Given the description of an element on the screen output the (x, y) to click on. 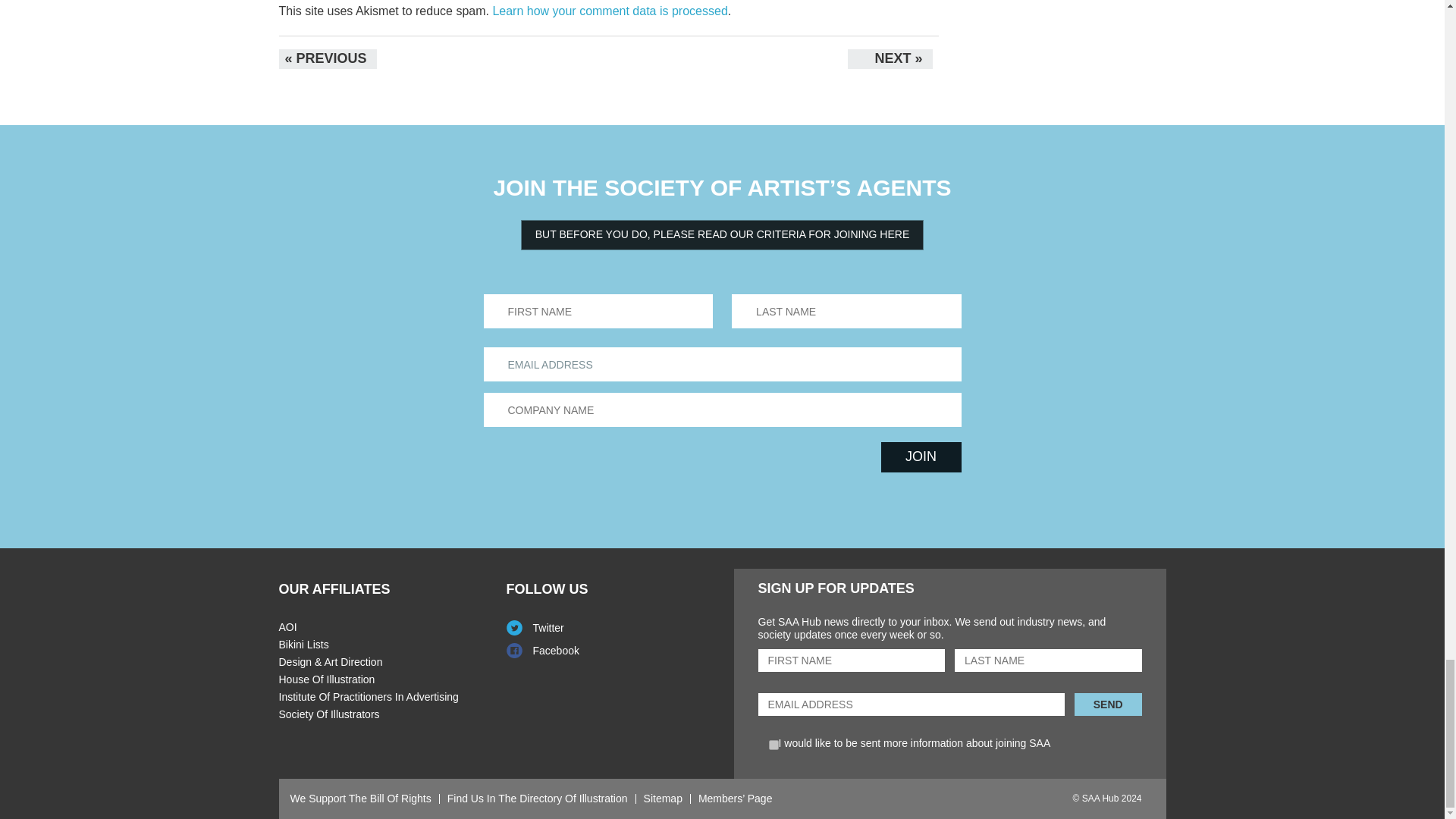
Email address (721, 364)
join (920, 457)
Learn how your comment data is processed (609, 10)
I would like to be sent more information about joining SAA (773, 745)
send (1107, 703)
